Given the description of an element on the screen output the (x, y) to click on. 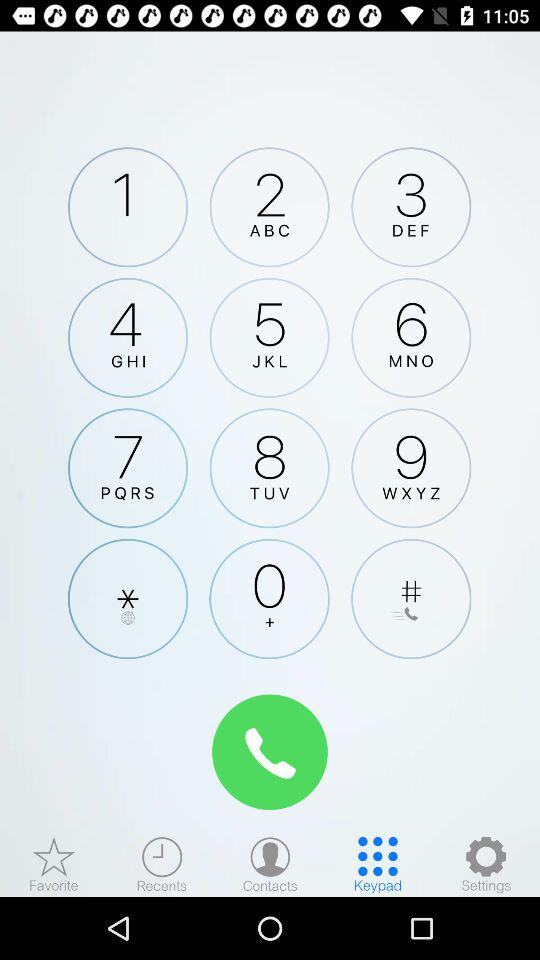
dial 2 (269, 207)
